Given the description of an element on the screen output the (x, y) to click on. 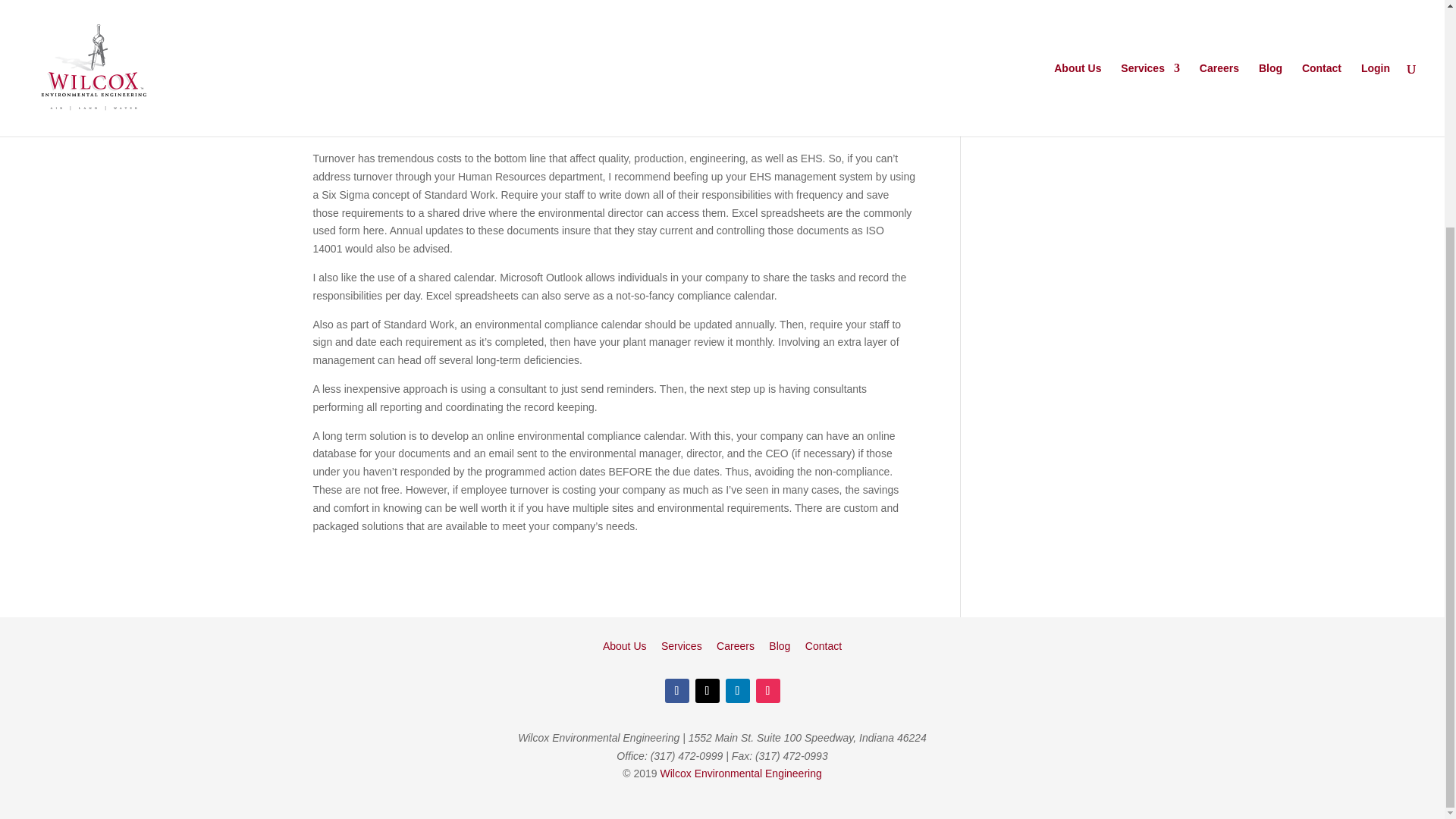
Services (681, 645)
Follow on Instagram (766, 690)
Follow on LinkedIn (737, 690)
Follow on X (706, 690)
Follow on Facebook (675, 690)
Blog (779, 645)
Careers (735, 645)
About Us (624, 645)
